Given the description of an element on the screen output the (x, y) to click on. 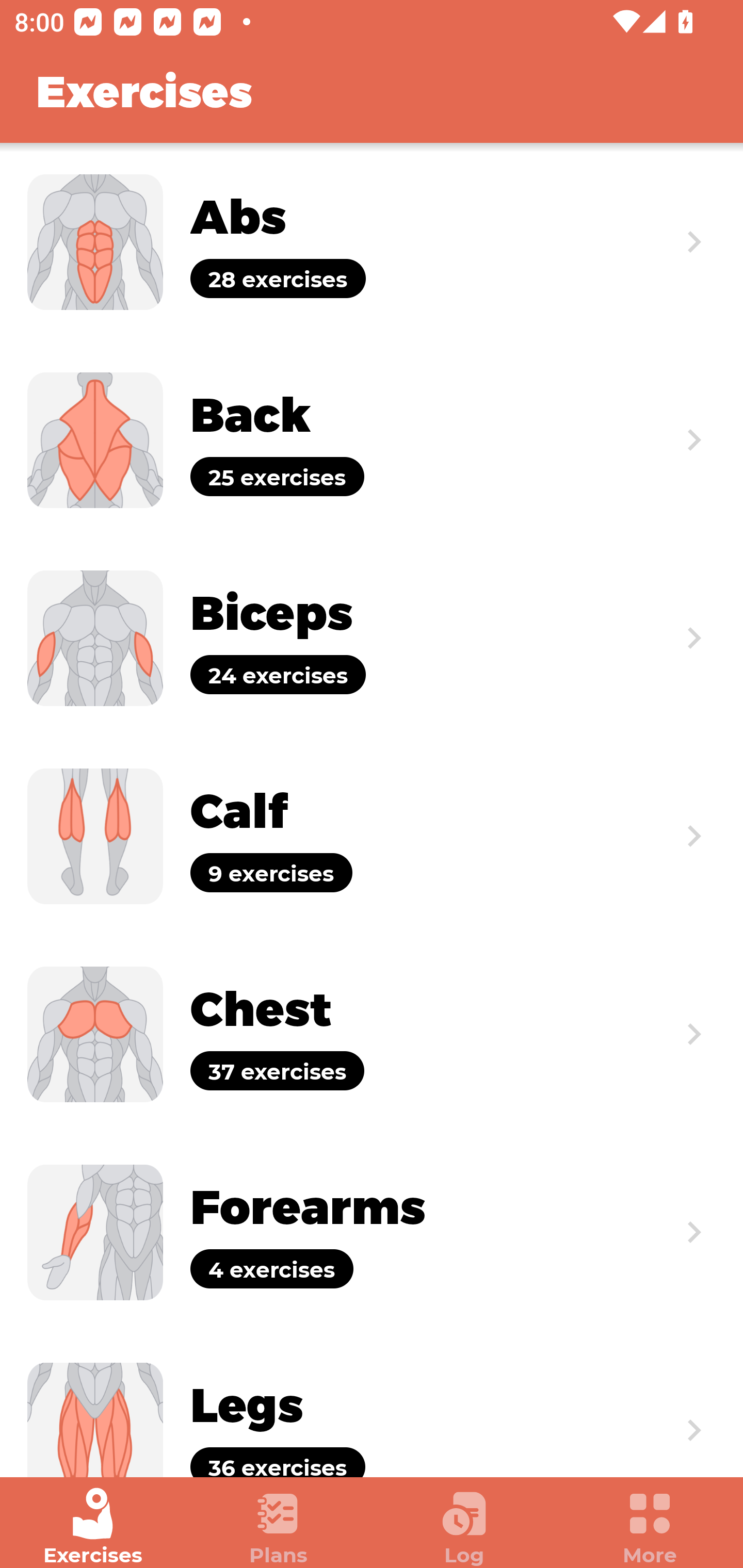
Exercise Abs 28 exercises (371, 241)
Exercise Back 25 exercises (371, 439)
Exercise Biceps 24 exercises (371, 637)
Exercise Calf 9 exercises (371, 836)
Exercise Chest 37 exercises (371, 1033)
Exercise Forearms 4 exercises (371, 1232)
Exercise Legs 36 exercises (371, 1404)
Exercises (92, 1527)
Plans (278, 1527)
Log (464, 1527)
More (650, 1527)
